Given the description of an element on the screen output the (x, y) to click on. 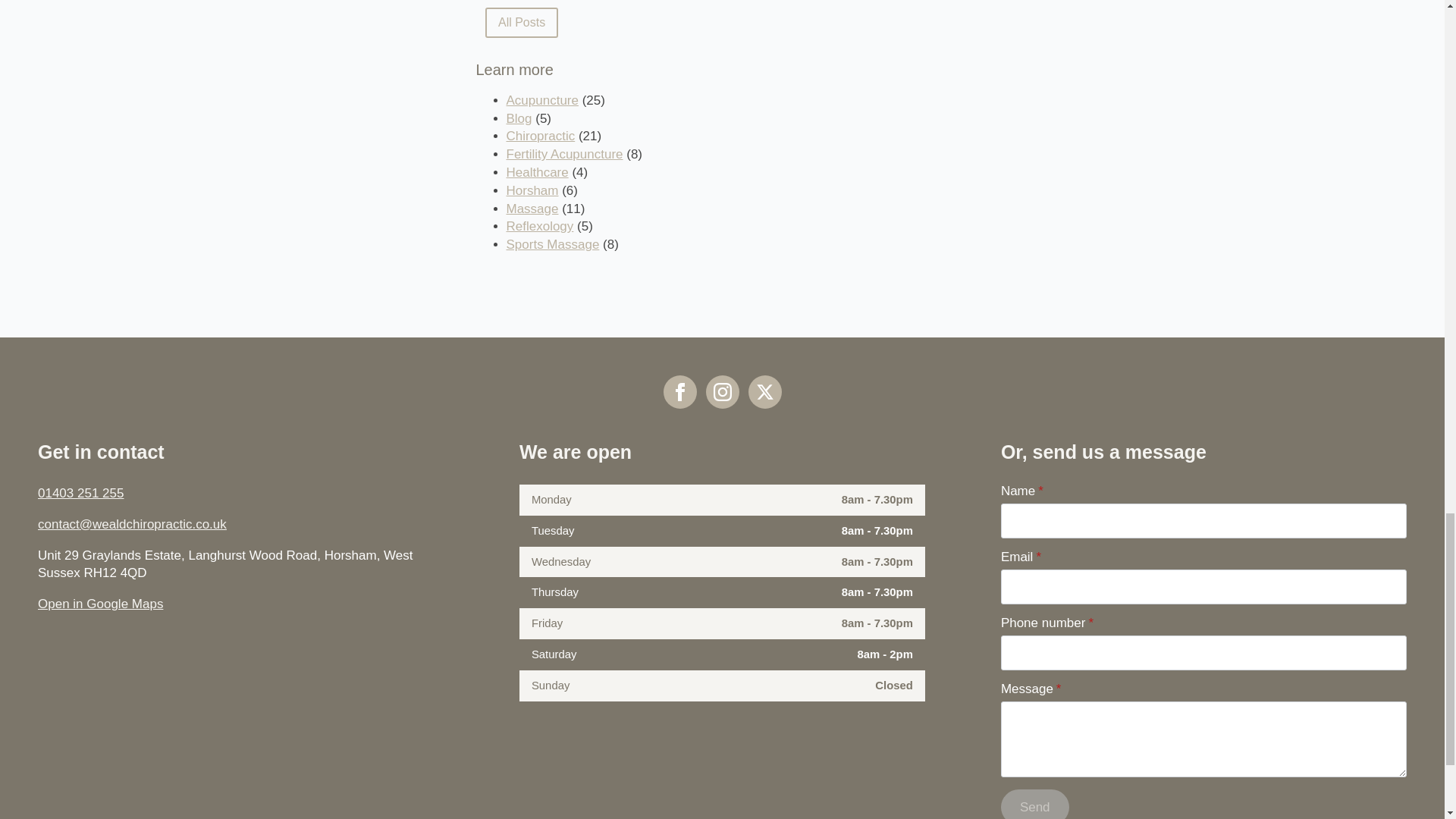
Fertility Acupuncture (564, 154)
All Posts (520, 22)
Healthcare (537, 172)
Chiropractic (540, 135)
Blog (519, 118)
Acupuncture (542, 100)
